Given the description of an element on the screen output the (x, y) to click on. 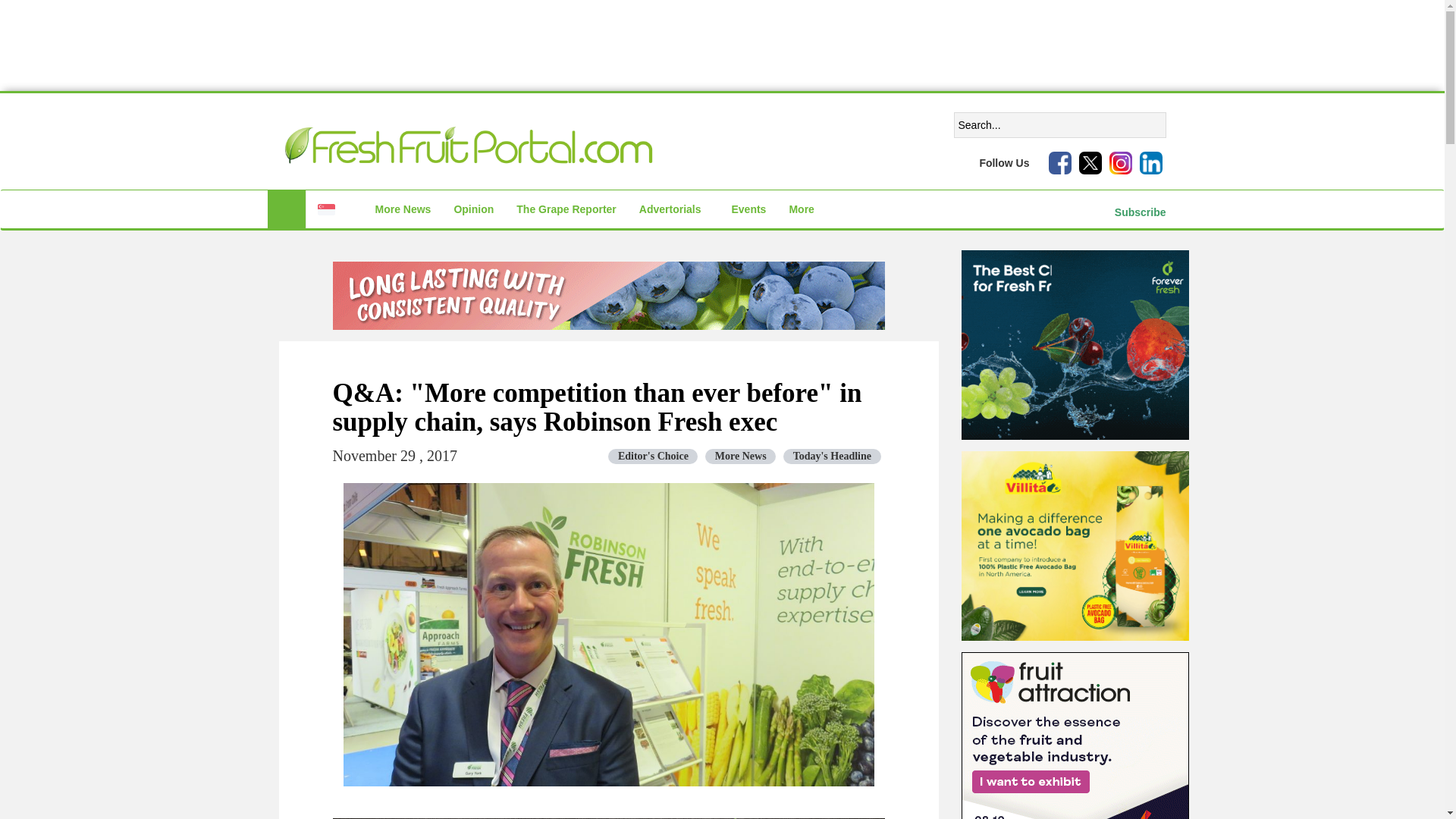
Nothing selected (333, 209)
Advertisement (721, 45)
